Given the description of an element on the screen output the (x, y) to click on. 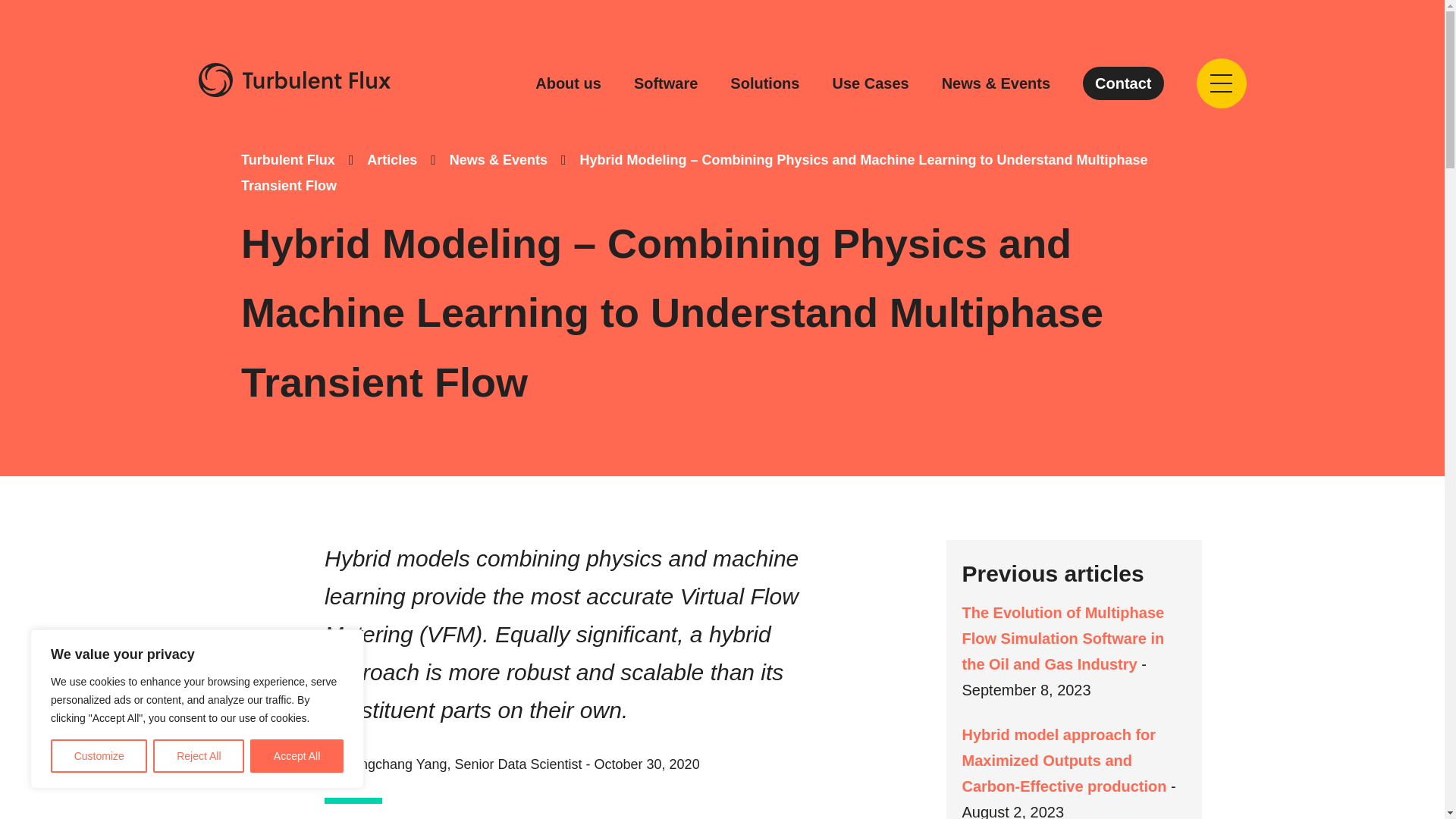
October 30, 2020 (647, 764)
Contact (1123, 82)
Customize (98, 756)
Reject All (198, 756)
September 8, 2023 (1025, 689)
Articles (391, 159)
About us (568, 83)
Use Cases (869, 83)
Software (665, 83)
Go to Articles. (391, 159)
Go to Turbulent Flux. (287, 159)
August 2, 2023 (1012, 811)
Accept All (296, 756)
Solutions (764, 83)
